Given the description of an element on the screen output the (x, y) to click on. 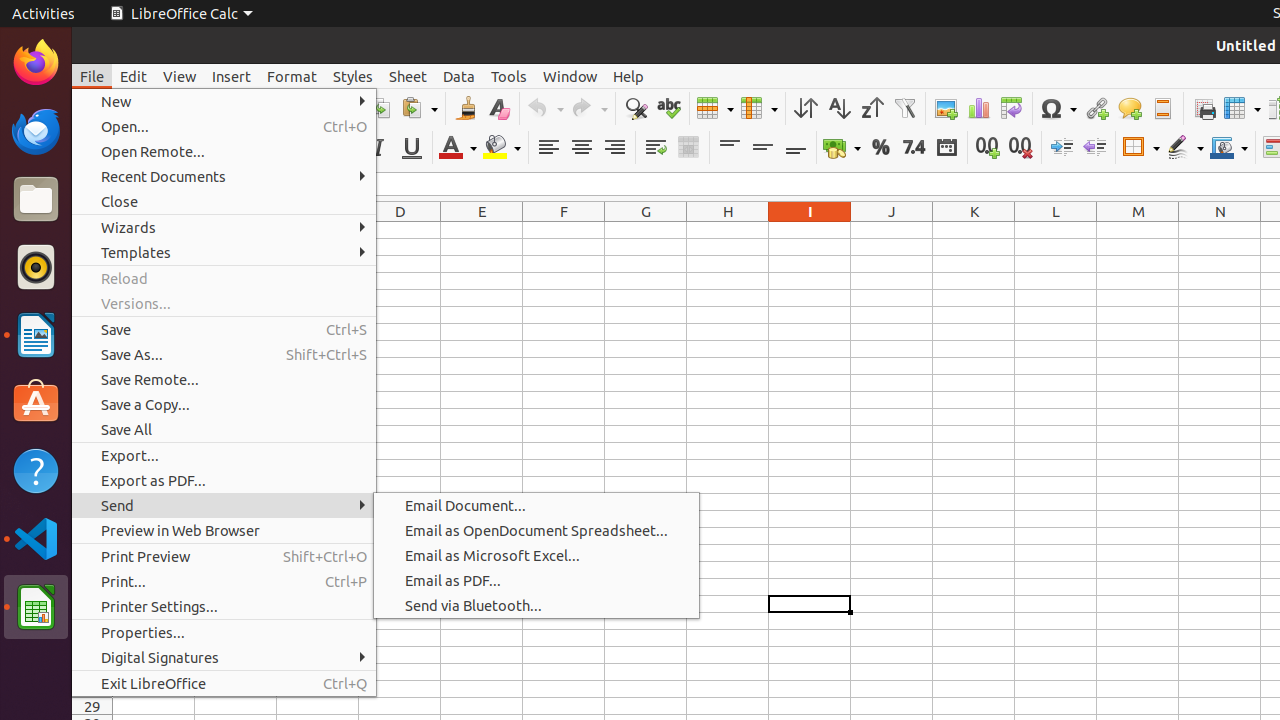
Window Element type: menu (570, 76)
Row Element type: push-button (715, 108)
Redo Element type: push-button (589, 108)
Add Decimal Place Element type: push-button (987, 147)
Print Area Element type: push-button (1203, 108)
